Given the description of an element on the screen output the (x, y) to click on. 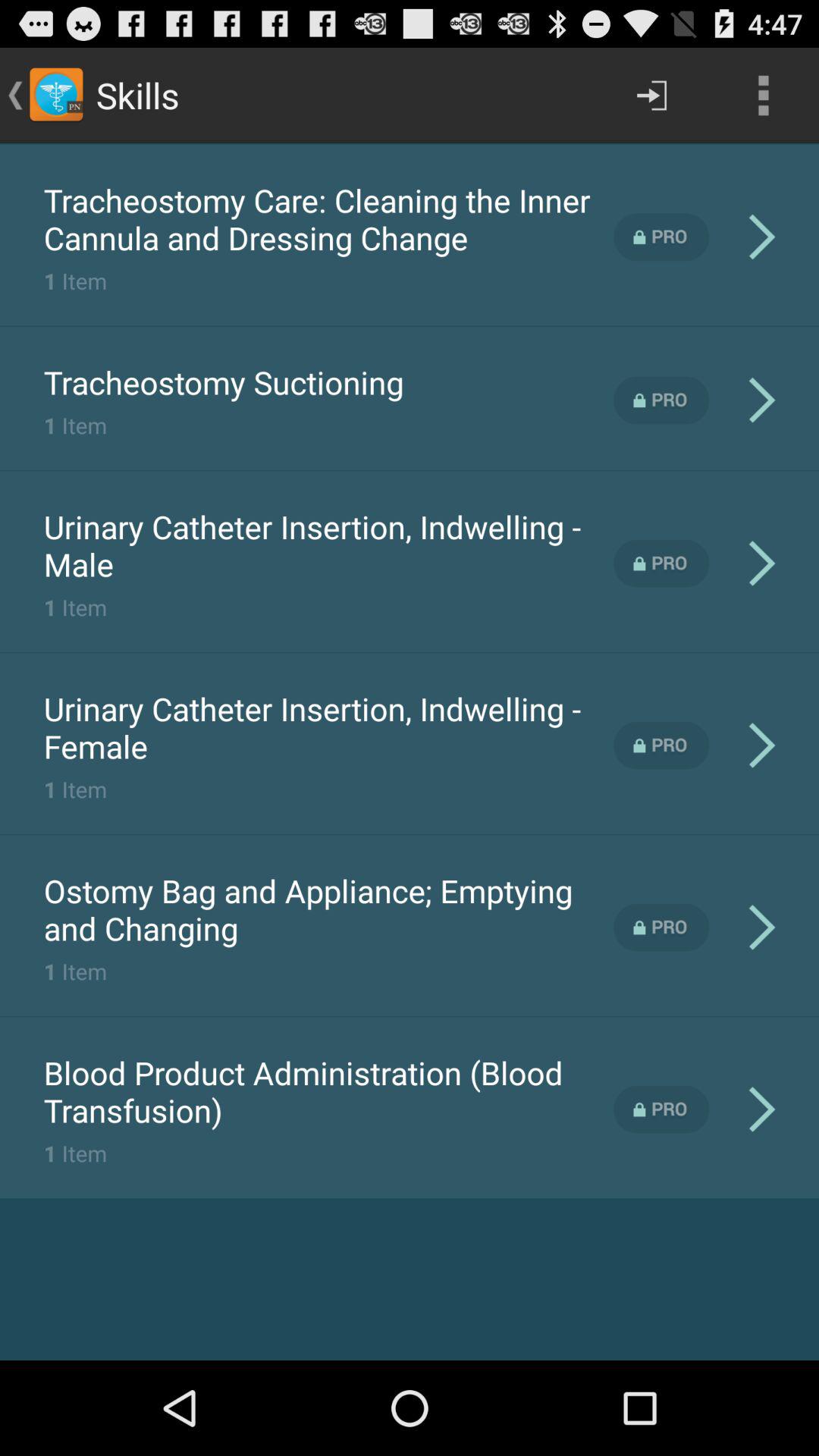
flip until the ostomy bag and (328, 909)
